Given the description of an element on the screen output the (x, y) to click on. 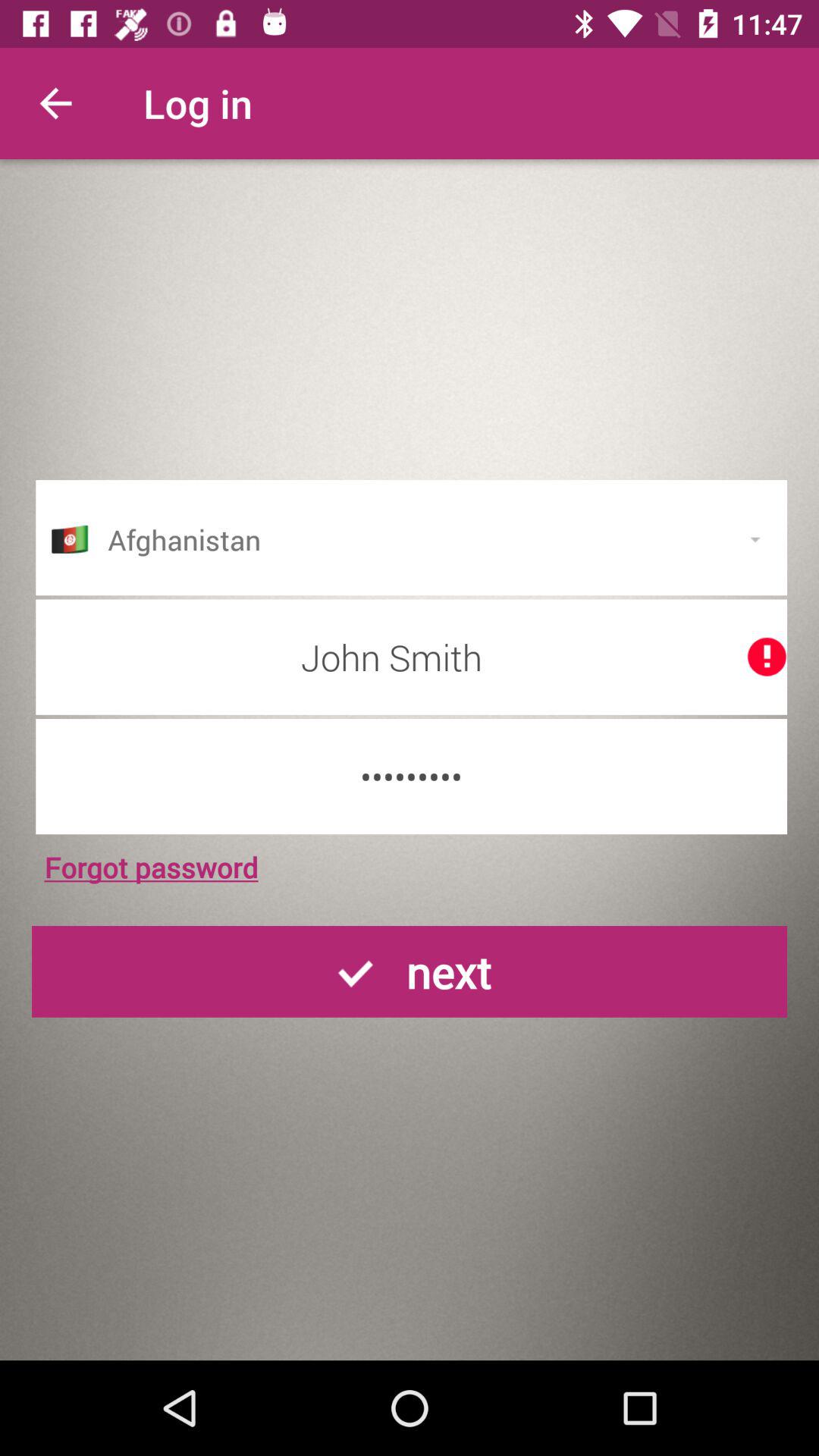
open the icon below crowd3116 icon (151, 867)
